Given the description of an element on the screen output the (x, y) to click on. 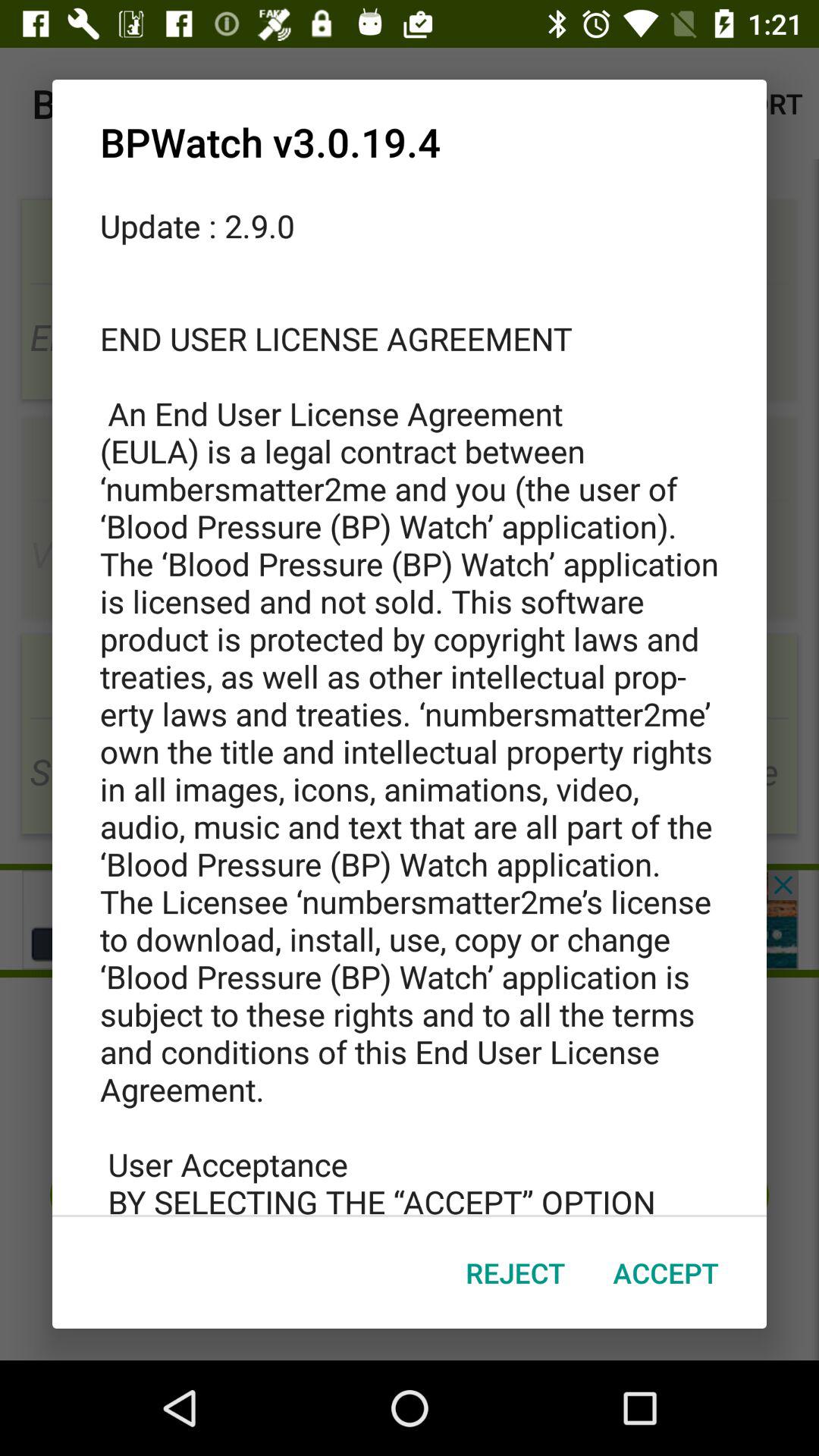
press the icon below update 2 9 icon (665, 1272)
